Given the description of an element on the screen output the (x, y) to click on. 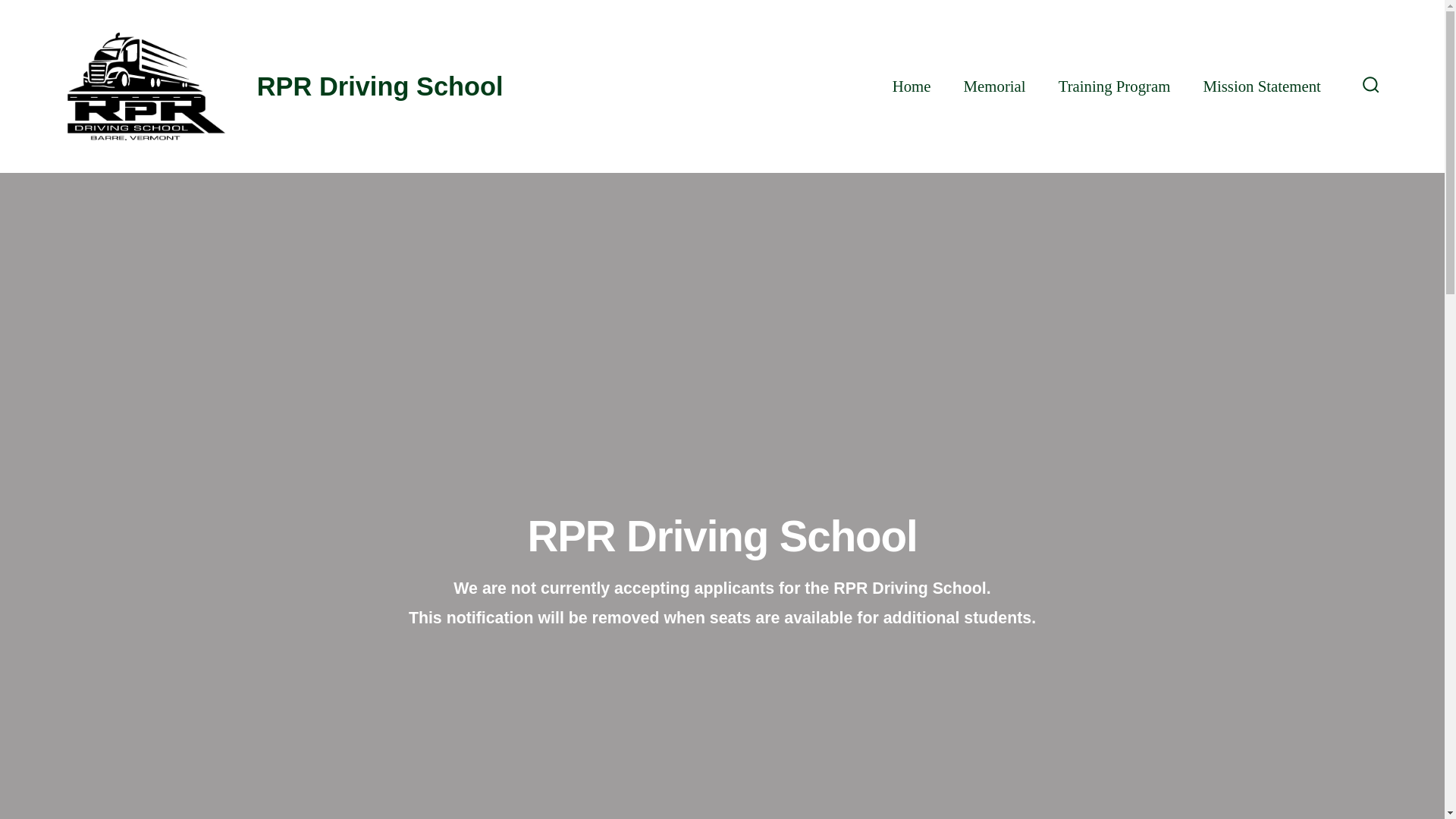
Memorial (994, 86)
Mission Statement (1261, 86)
Home (911, 86)
Training Program (1114, 86)
RPR Driving School (364, 86)
